Given the description of an element on the screen output the (x, y) to click on. 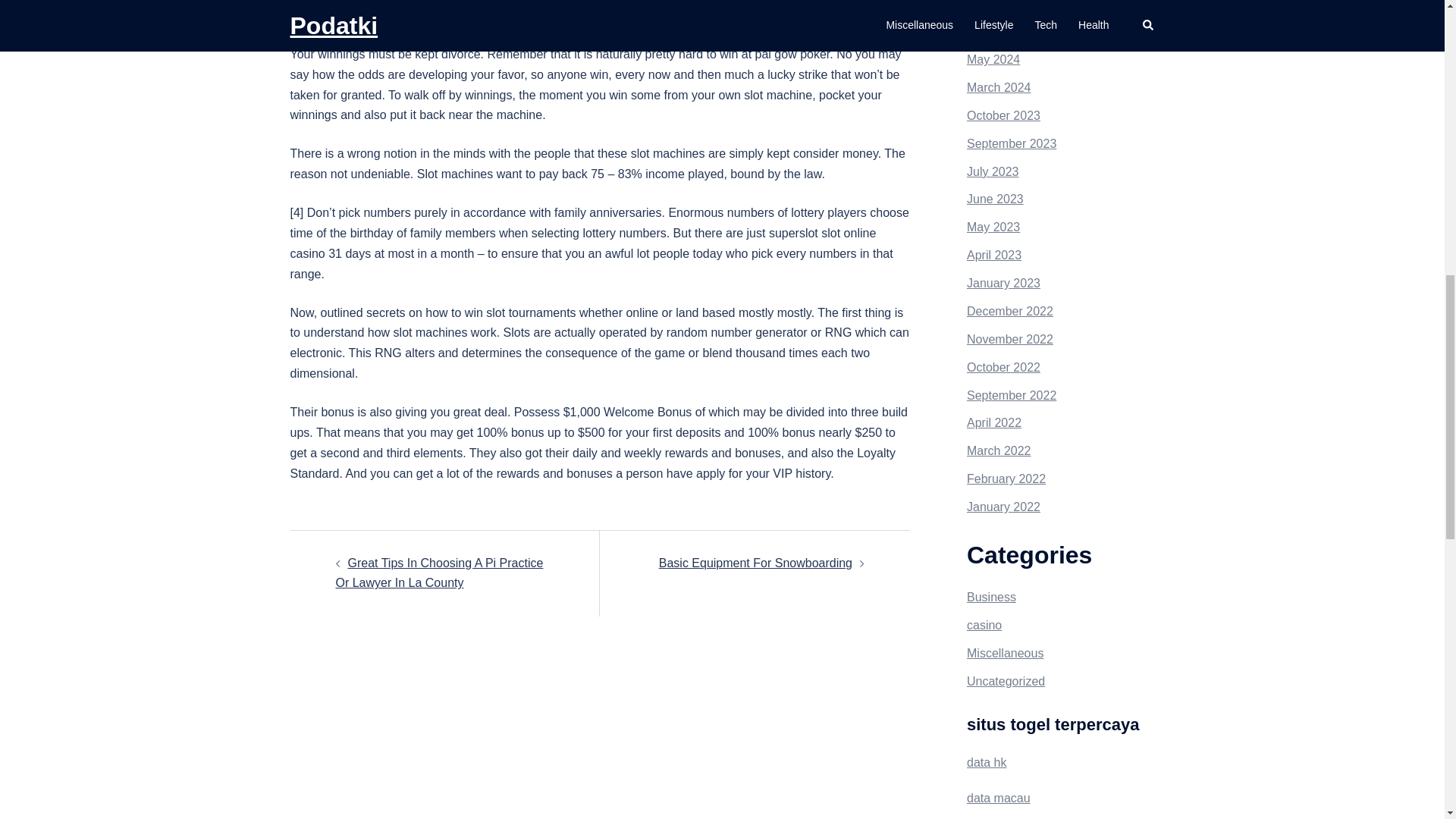
April 2023 (994, 254)
March 2024 (998, 87)
Basic Equipment For Snowboarding (755, 562)
July 2023 (992, 171)
May 2023 (993, 226)
September 2023 (1011, 143)
Great Tips In Choosing A Pi Practice Or Lawyer In La County (438, 572)
October 2023 (1003, 115)
June 2023 (994, 198)
May 2024 (993, 59)
